Given the description of an element on the screen output the (x, y) to click on. 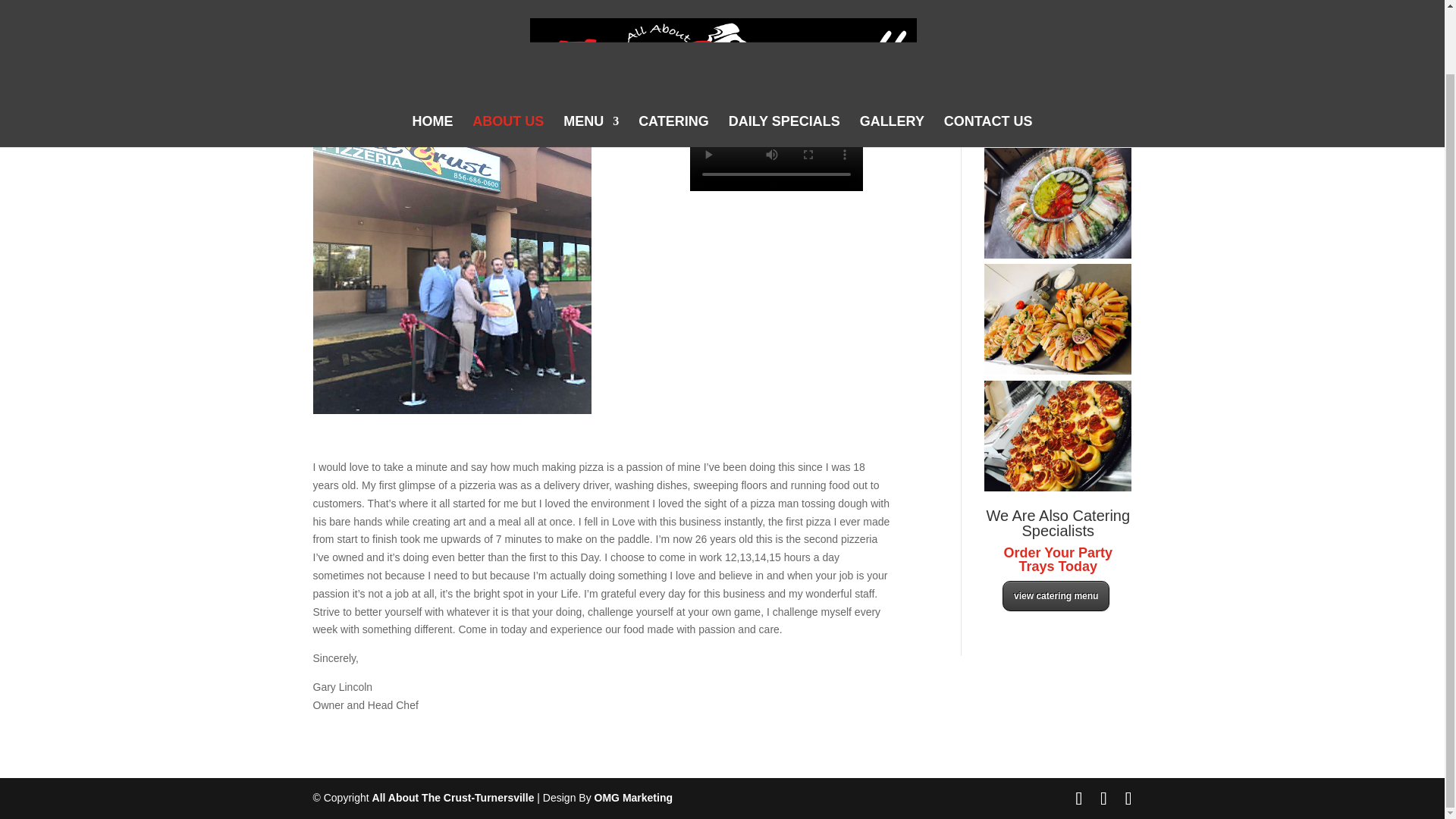
CATERING (674, 60)
ABOUT US (507, 60)
HOME (432, 60)
OMG Marketing (633, 797)
CONTACT US (987, 60)
All About The Crust-Turnersville (453, 797)
DAILY SPECIALS (784, 60)
view catering menu (1056, 595)
GALLERY (892, 60)
MENU (590, 60)
